Given the description of an element on the screen output the (x, y) to click on. 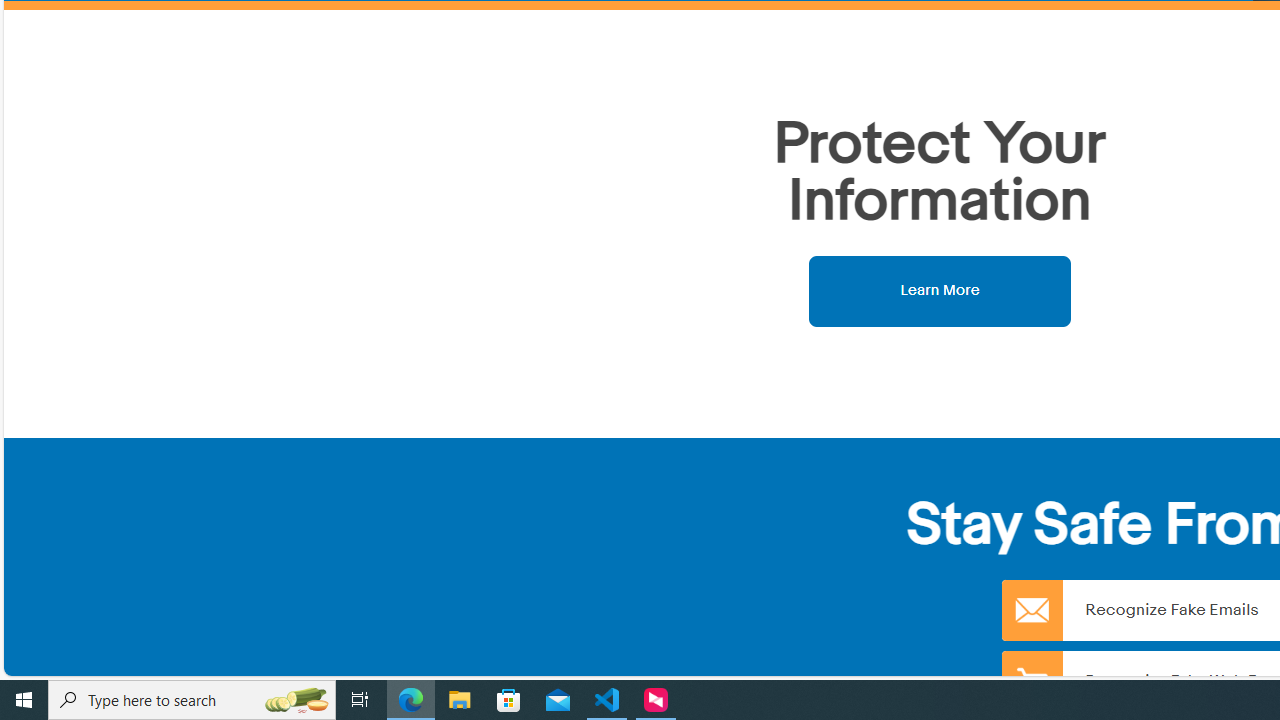
Learn More (939, 290)
